Given the description of an element on the screen output the (x, y) to click on. 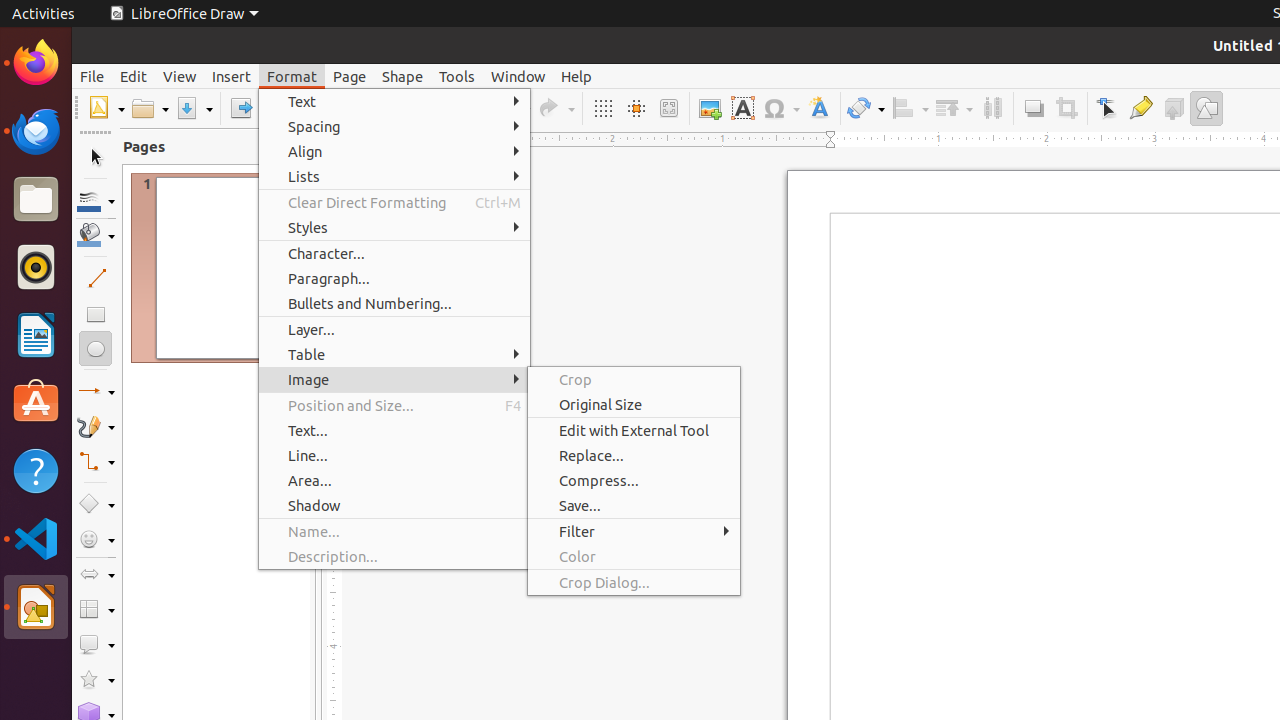
Redo Element type: push-button (556, 108)
Save... Element type: menu-item (634, 505)
Ubuntu Software Element type: push-button (36, 402)
Draw Functions Element type: toggle-button (1206, 108)
Transformations Element type: push-button (866, 108)
